Given the description of an element on the screen output the (x, y) to click on. 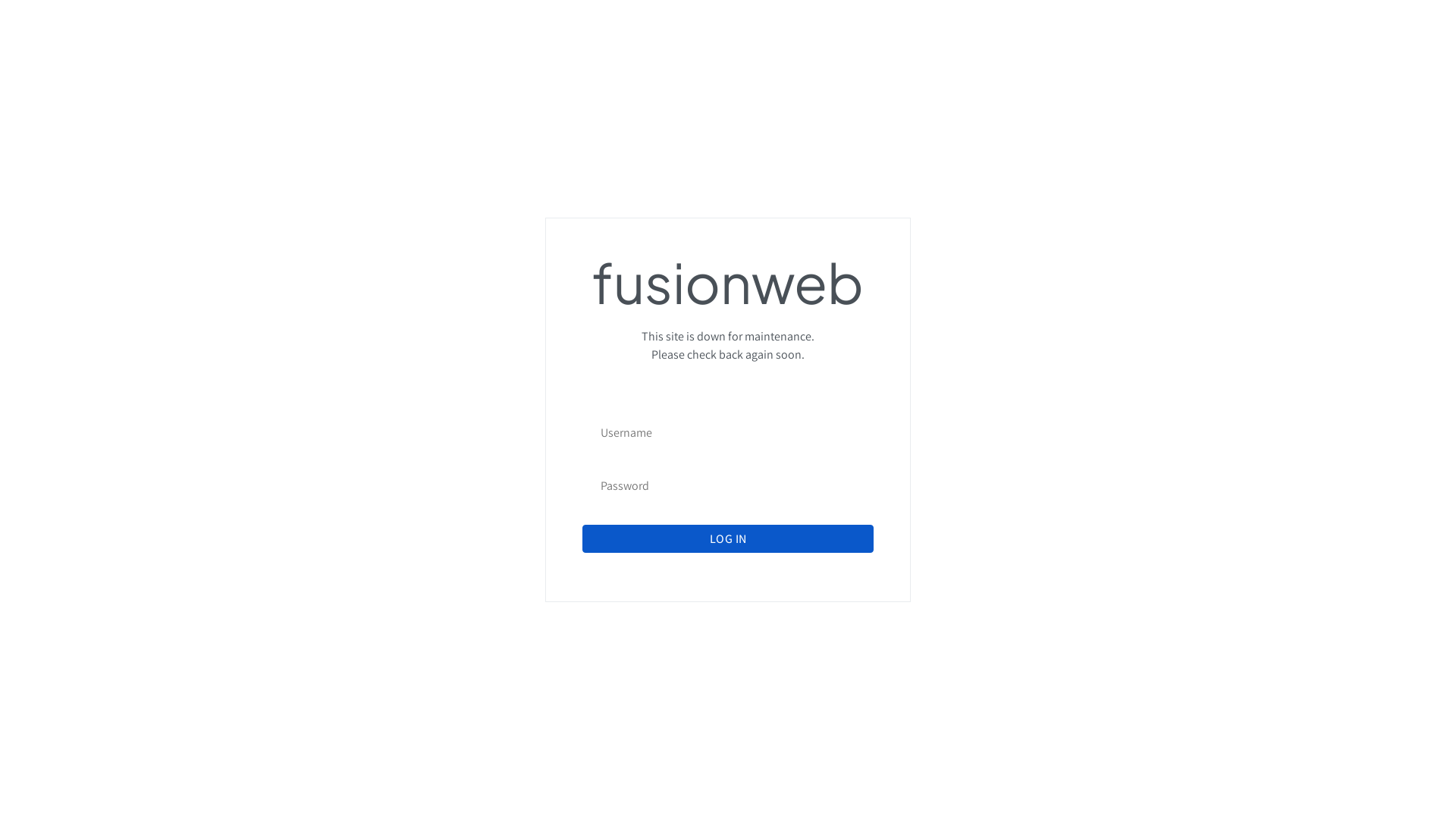
Log in Element type: text (727, 538)
